Given the description of an element on the screen output the (x, y) to click on. 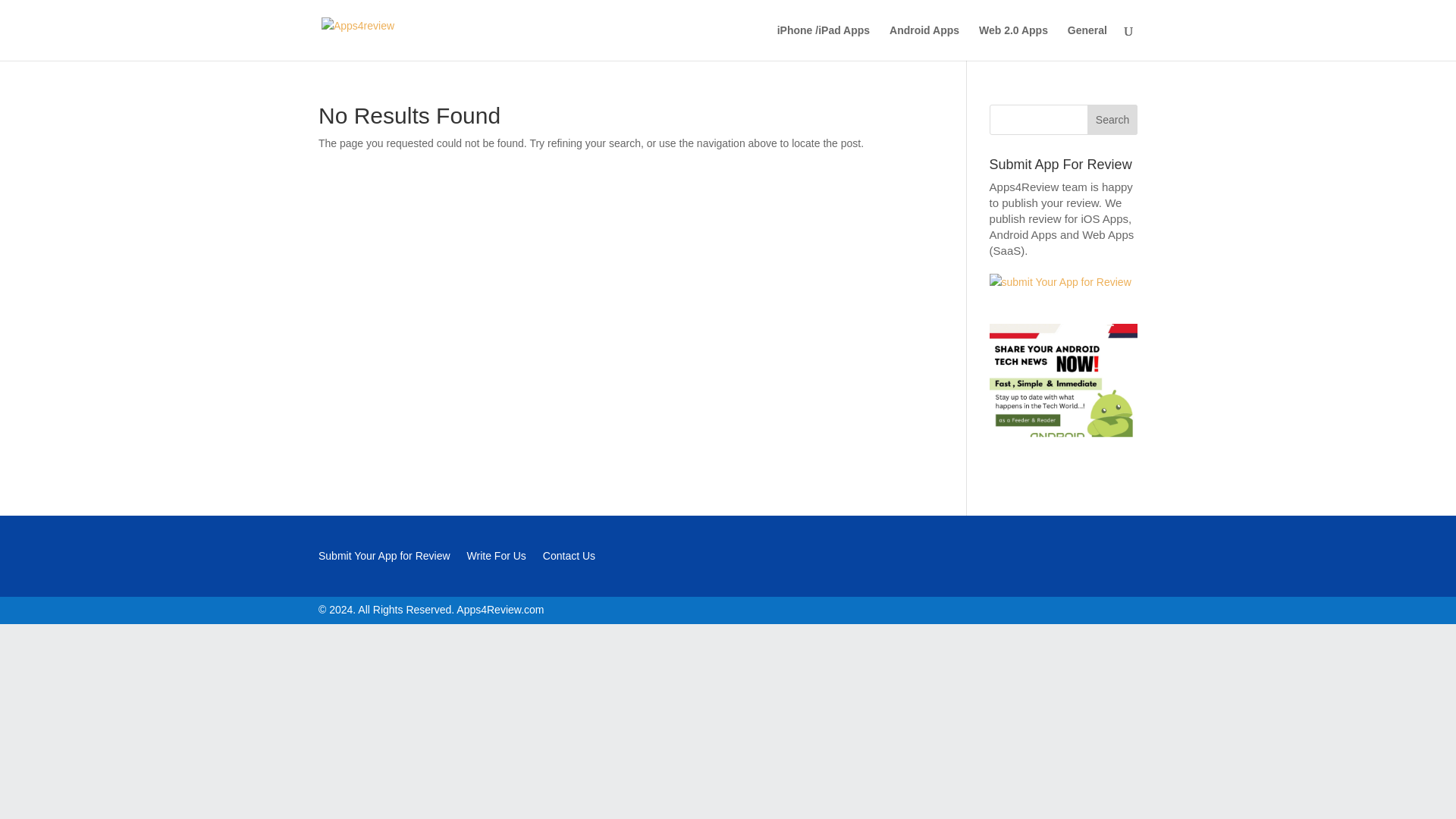
Search (1112, 119)
Contact Us (569, 558)
Web 2.0 Apps (1013, 42)
Search (1112, 119)
General (1086, 42)
Android Apps (924, 42)
Write For Us (496, 558)
Submit Your App for Review (383, 558)
